Given the description of an element on the screen output the (x, y) to click on. 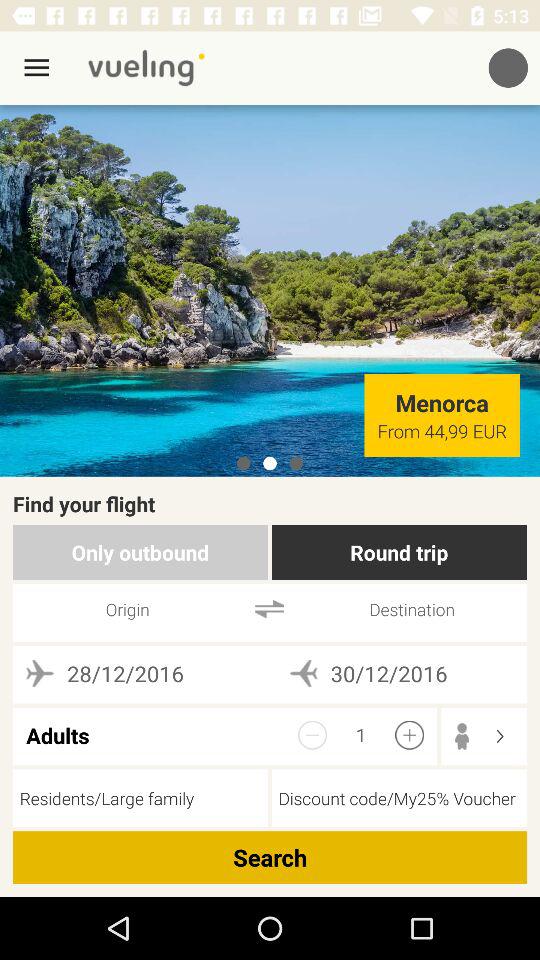
turn off icon below the only outbound item (269, 608)
